Given the description of an element on the screen output the (x, y) to click on. 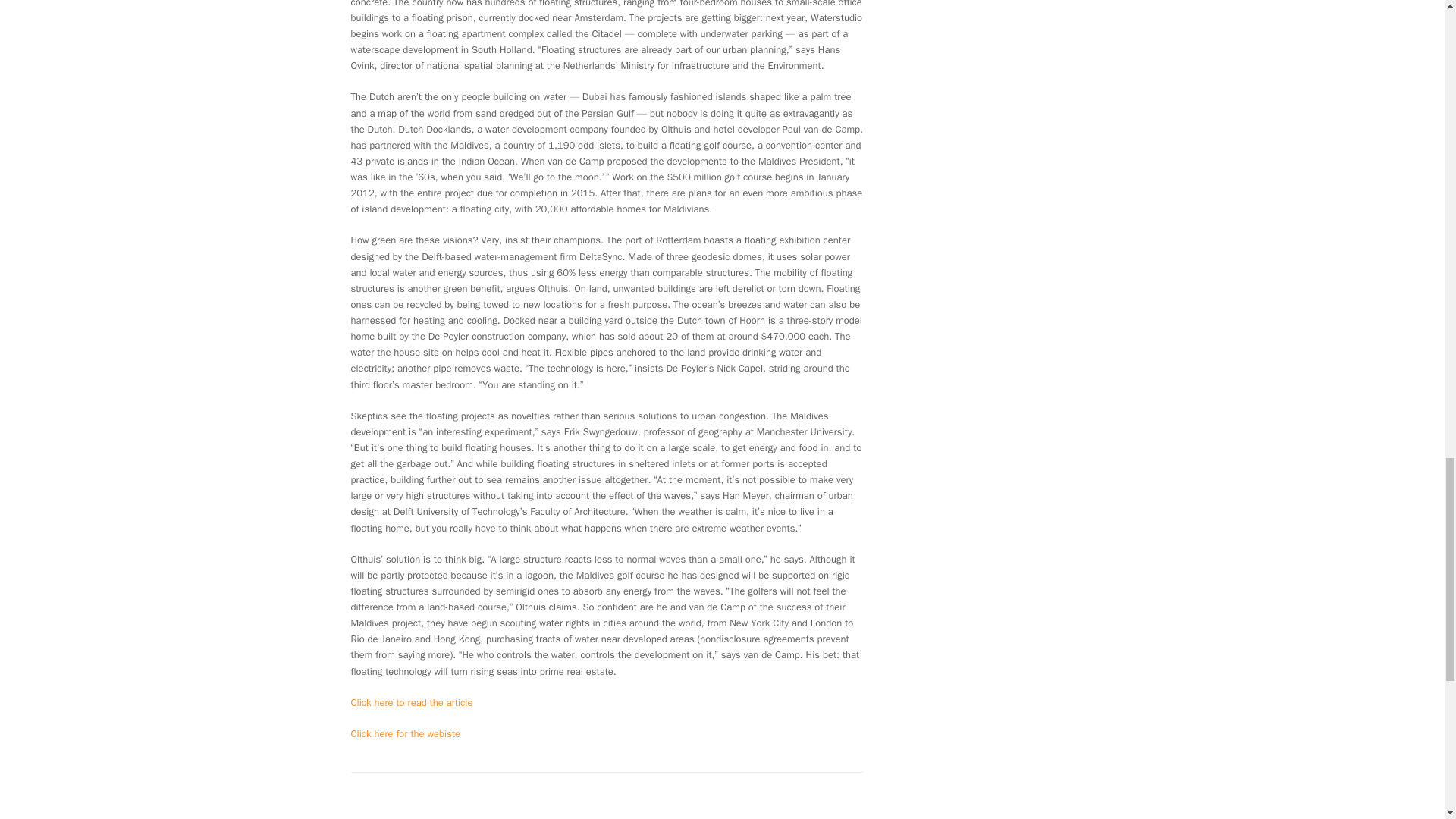
Click here for the webiste (405, 733)
Click here to read the article (410, 702)
